Given the description of an element on the screen output the (x, y) to click on. 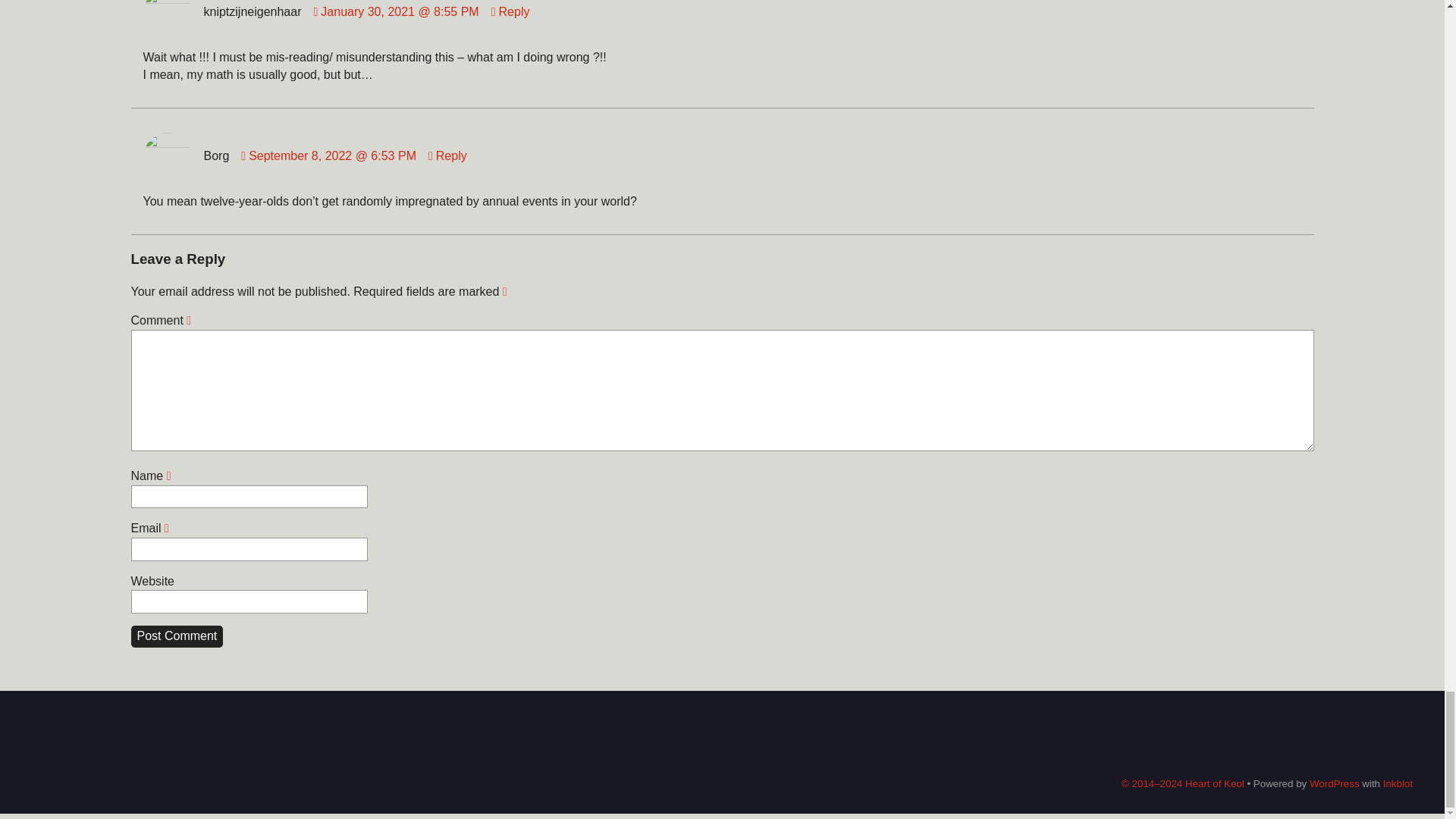
About (1386, 737)
Comic (1173, 737)
Cast (1239, 737)
Extras (1310, 737)
Home (1104, 737)
Post Comment (176, 636)
